Given the description of an element on the screen output the (x, y) to click on. 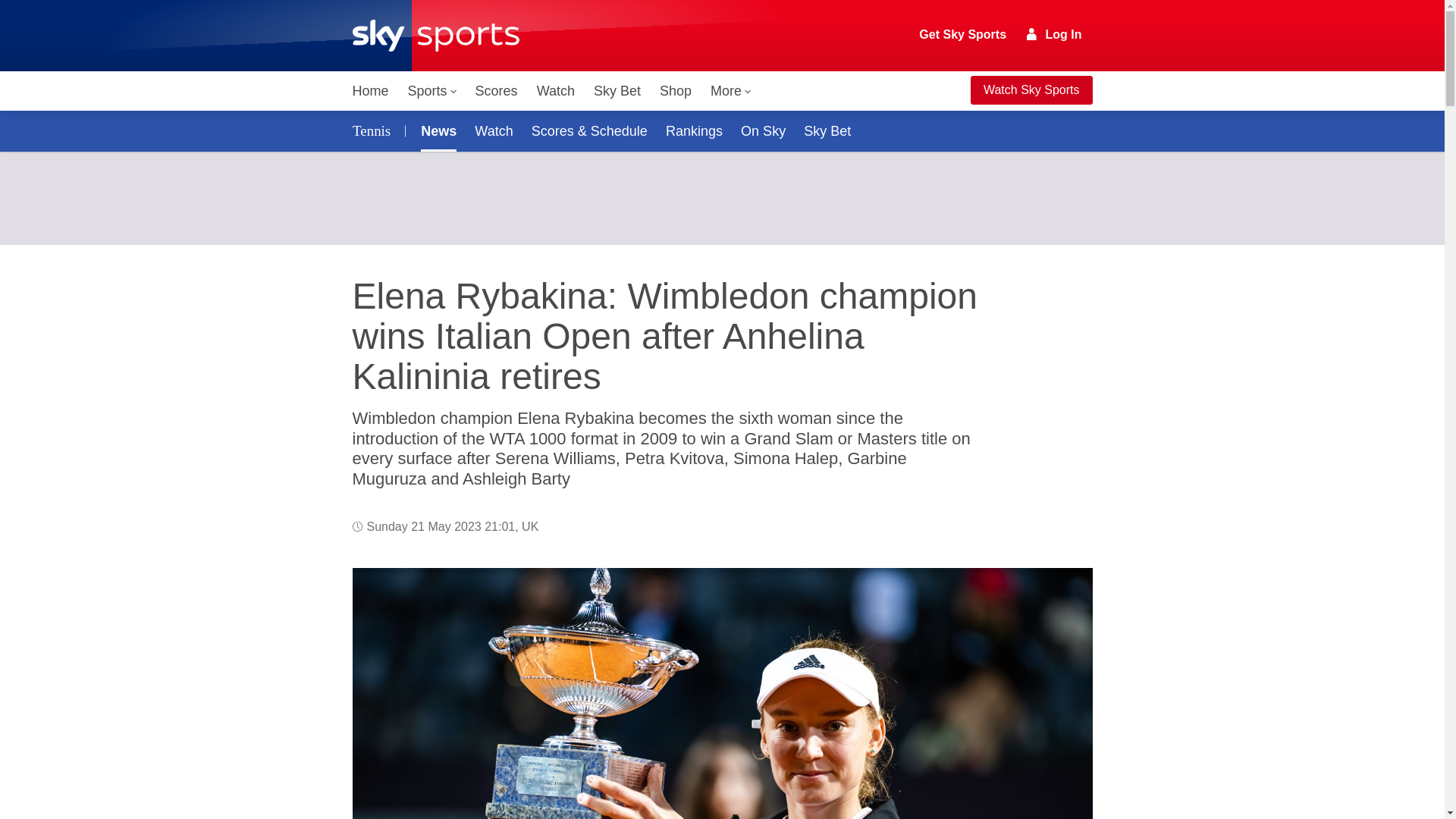
Log In (1053, 33)
Watch (555, 91)
Tennis (374, 130)
Watch Sky Sports (1032, 90)
Scores (496, 91)
Get Sky Sports (962, 34)
News (435, 130)
Sky Bet (616, 91)
More (730, 91)
Home (369, 91)
